Given the description of an element on the screen output the (x, y) to click on. 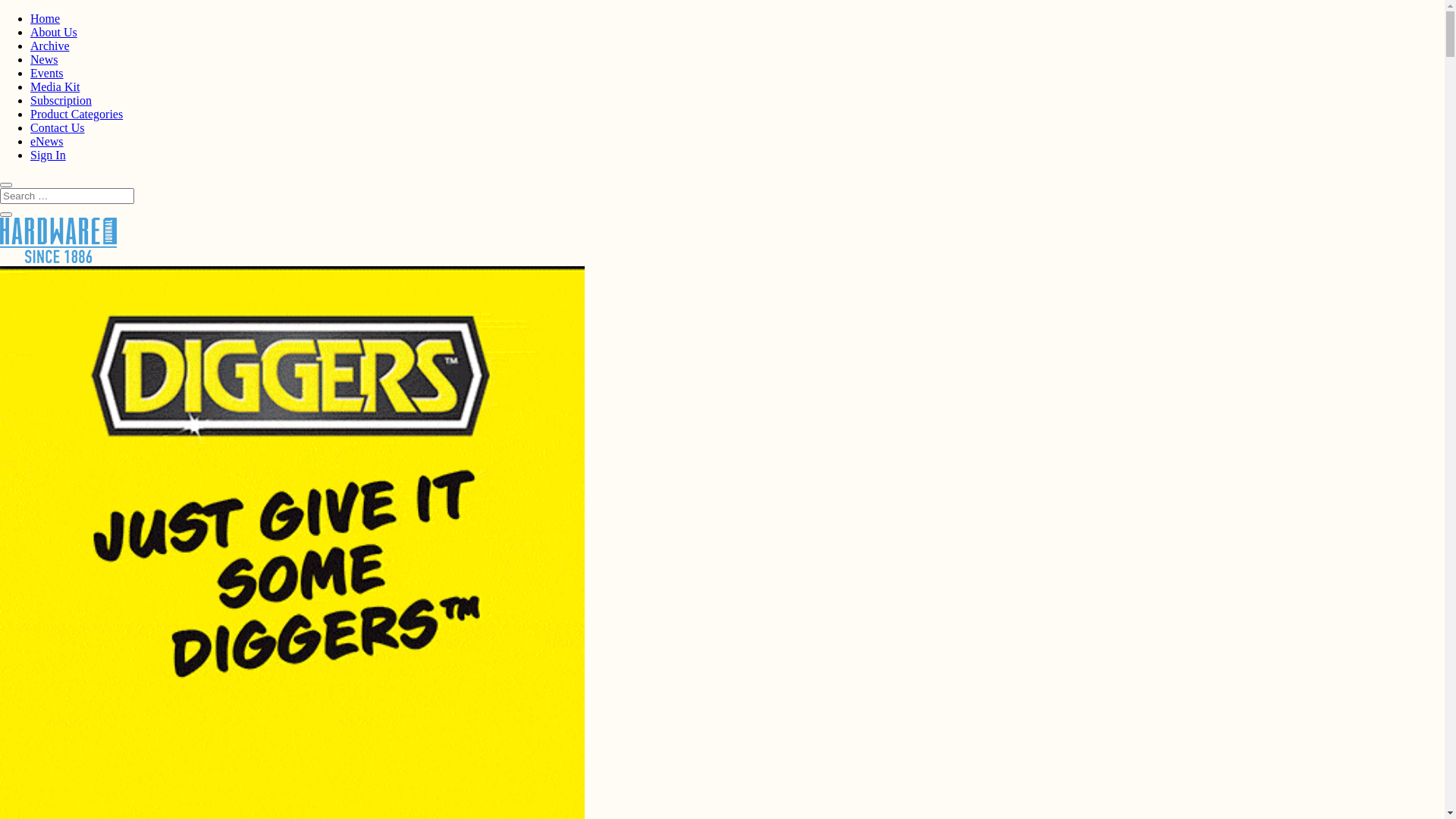
Archive Element type: text (49, 45)
Product Categories Element type: text (76, 113)
Events Element type: text (46, 72)
AHJ-233020-Logo_No-Background_1_ Element type: hover (58, 240)
News Element type: text (43, 59)
Home Element type: text (44, 18)
Contact Us Element type: text (57, 127)
Media Kit Element type: text (54, 86)
eNews Element type: text (46, 140)
Search for: Element type: hover (67, 195)
Sign In Element type: text (47, 154)
About Us Element type: text (53, 31)
Subscription Element type: text (60, 100)
